Given the description of an element on the screen output the (x, y) to click on. 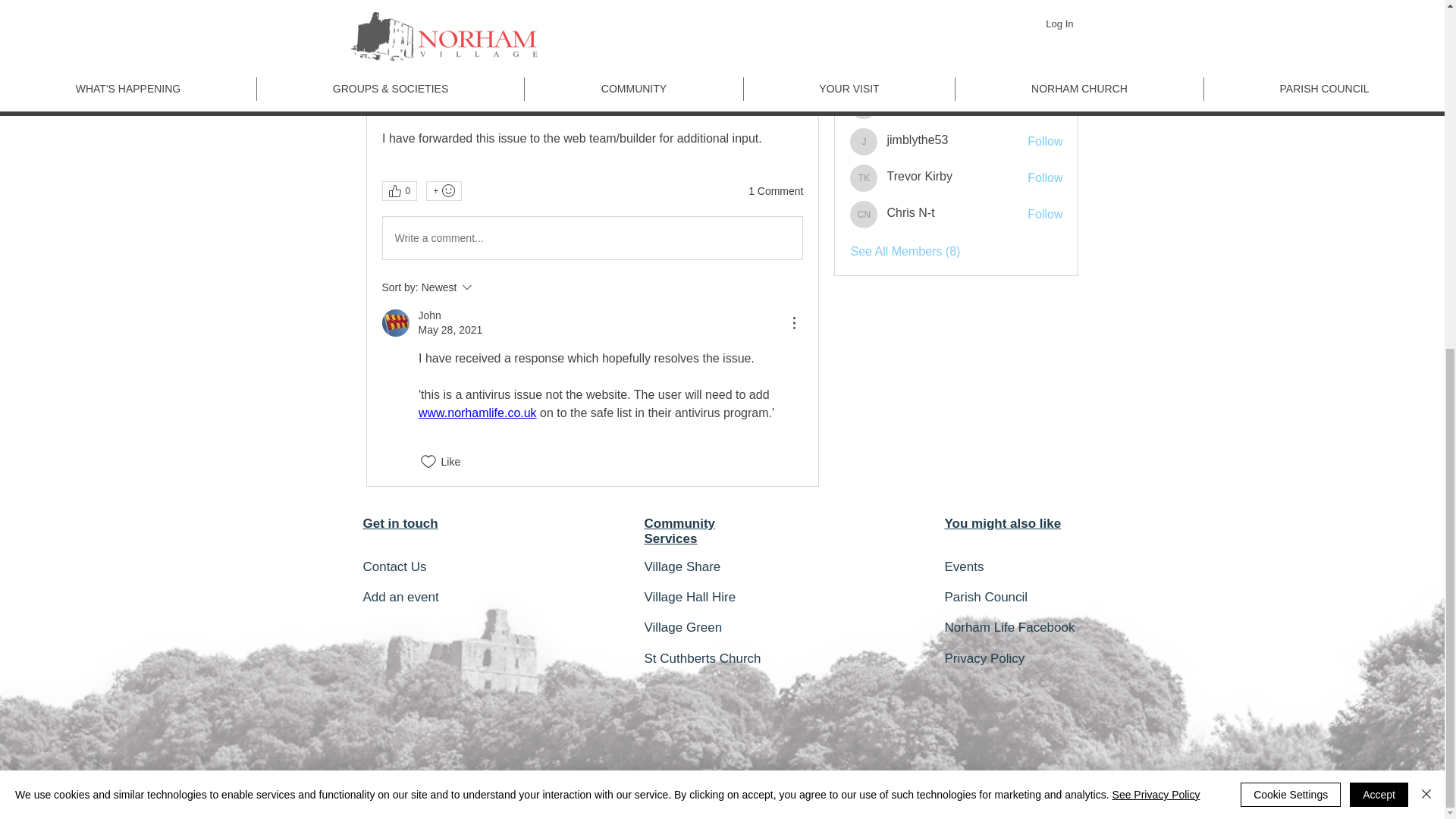
jhg (863, 104)
Trevor Kirby (863, 177)
Chris N-t (863, 214)
Mark H (863, 68)
John (395, 322)
jimblythe53 (863, 141)
